Given the description of an element on the screen output the (x, y) to click on. 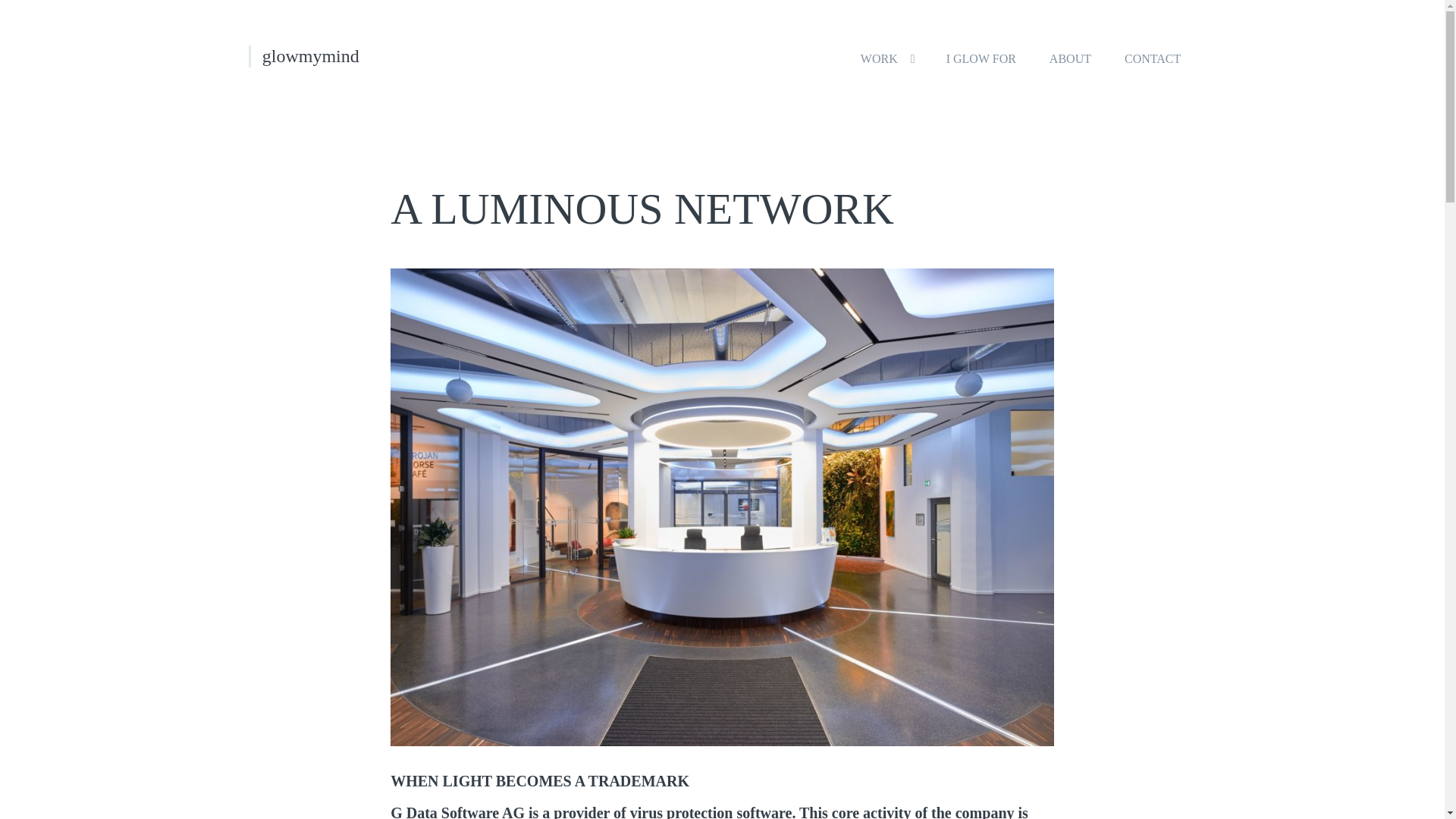
CONTACT (1152, 58)
I GLOW FOR (981, 58)
WORK (879, 58)
ABOUT (1070, 58)
glowmymind (310, 55)
